Given the description of an element on the screen output the (x, y) to click on. 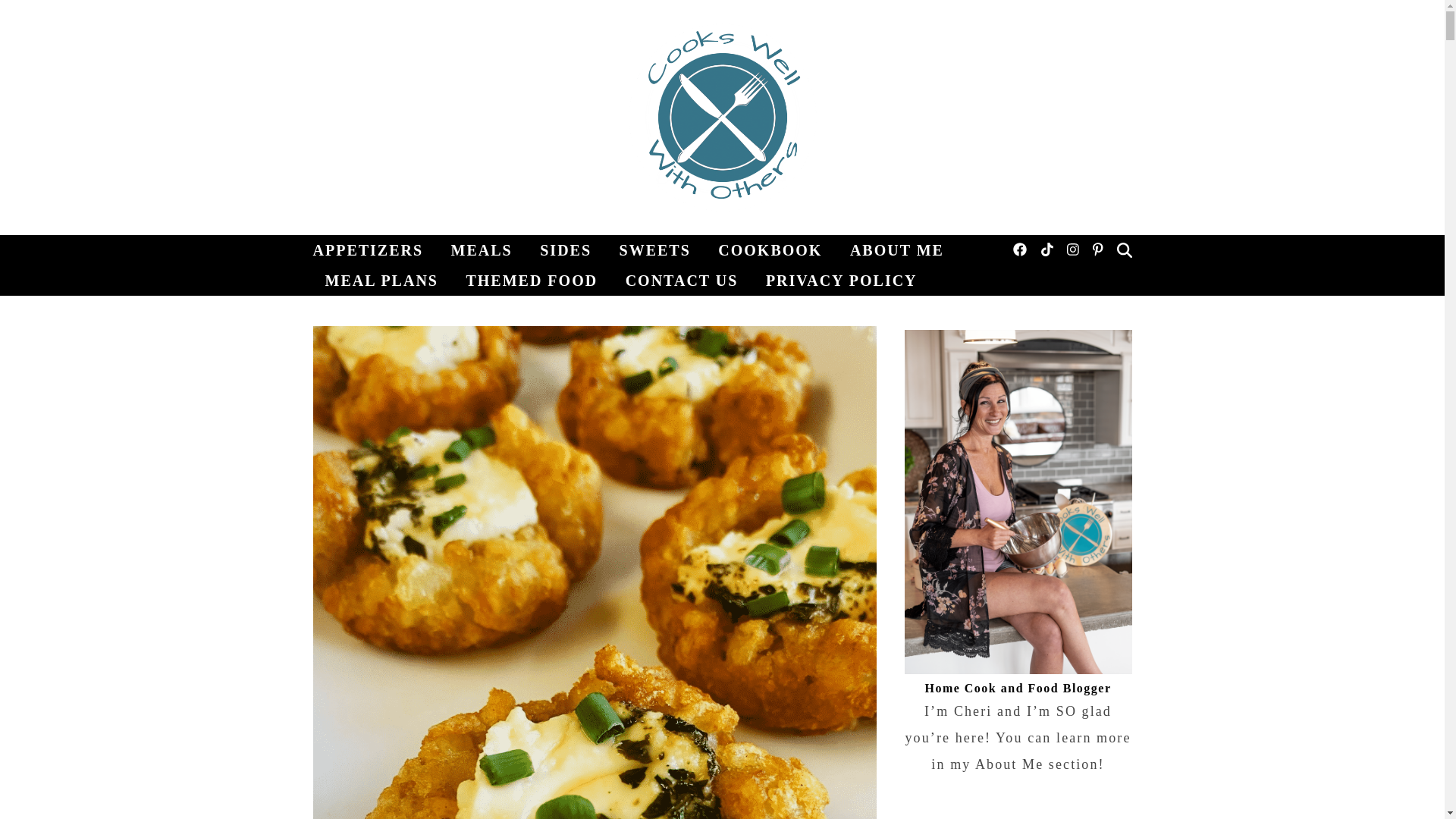
THEMED FOOD (531, 280)
SWEETS (655, 250)
ABOUT ME (897, 250)
COOKBOOK (770, 250)
APPETIZERS (374, 250)
MEAL PLANS (381, 280)
SIDES (565, 250)
CONTACT US (681, 280)
MEALS (481, 250)
Cooks Well With Others (722, 117)
PRIVACY POLICY (835, 280)
